Given the description of an element on the screen output the (x, y) to click on. 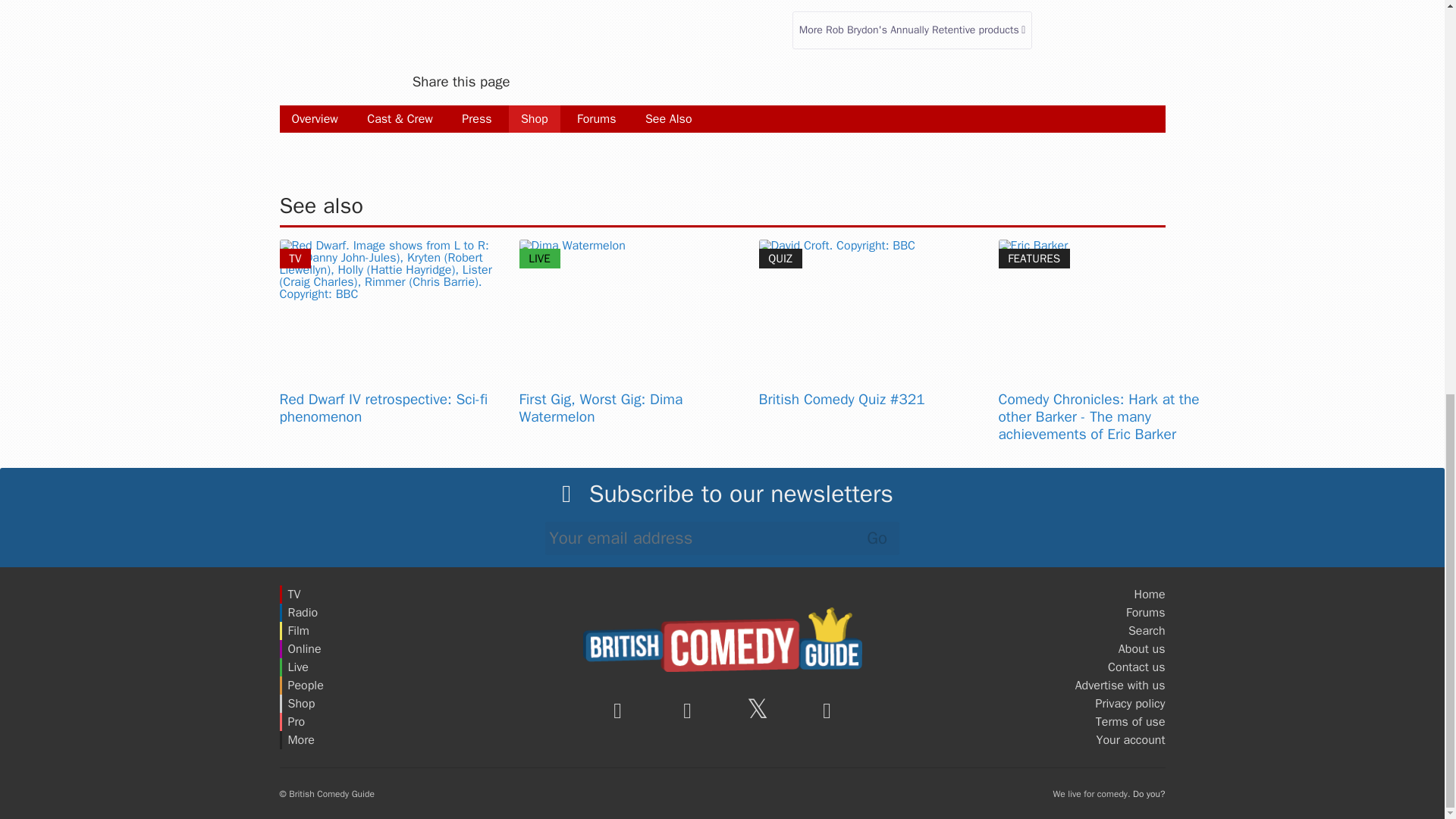
Eric Barker (1111, 315)
Dima Watermelon (631, 315)
David Croft. Copyright: BBC (871, 315)
